Given the description of an element on the screen output the (x, y) to click on. 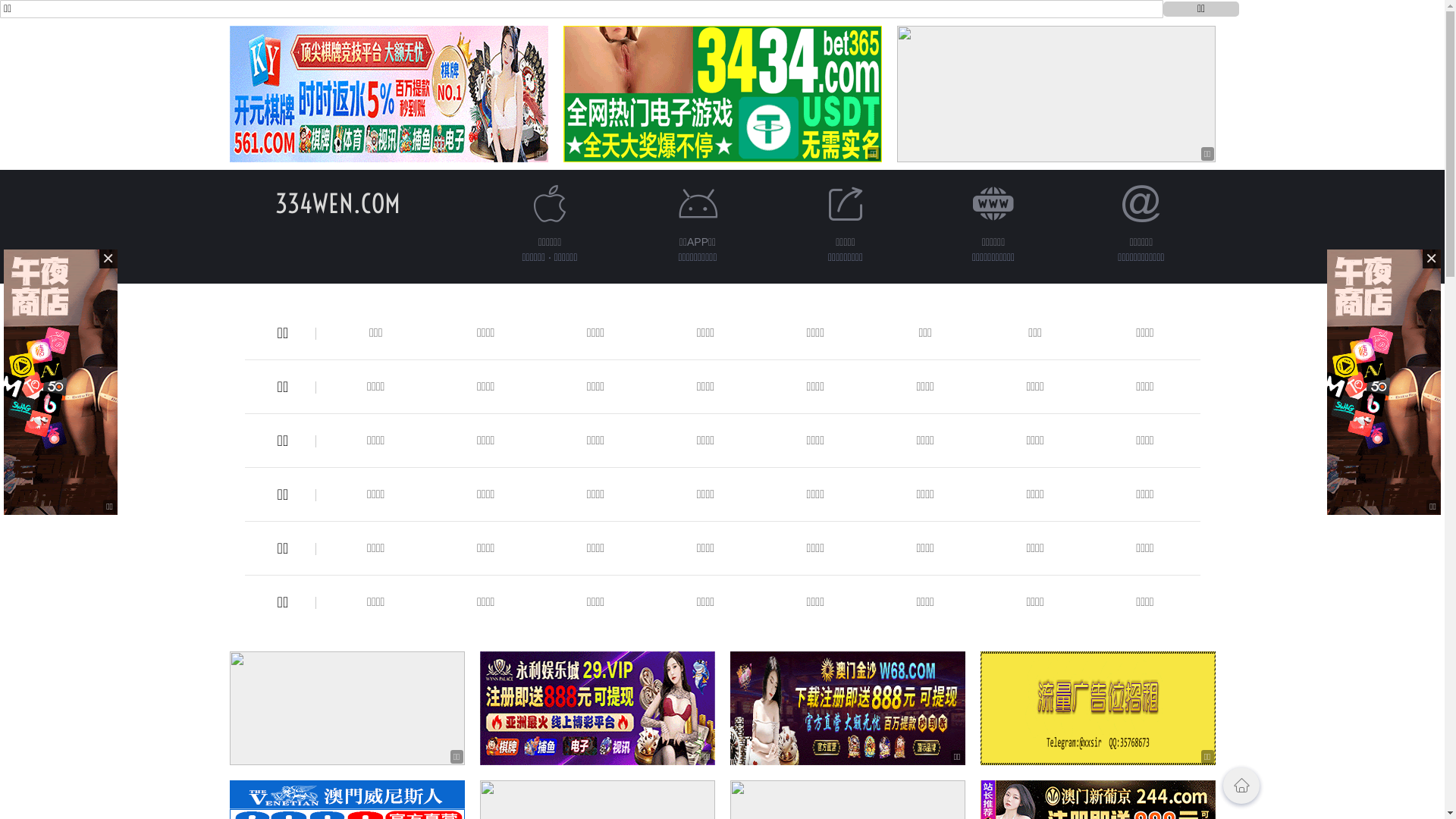
334WEN.COM Element type: text (337, 203)
